Given the description of an element on the screen output the (x, y) to click on. 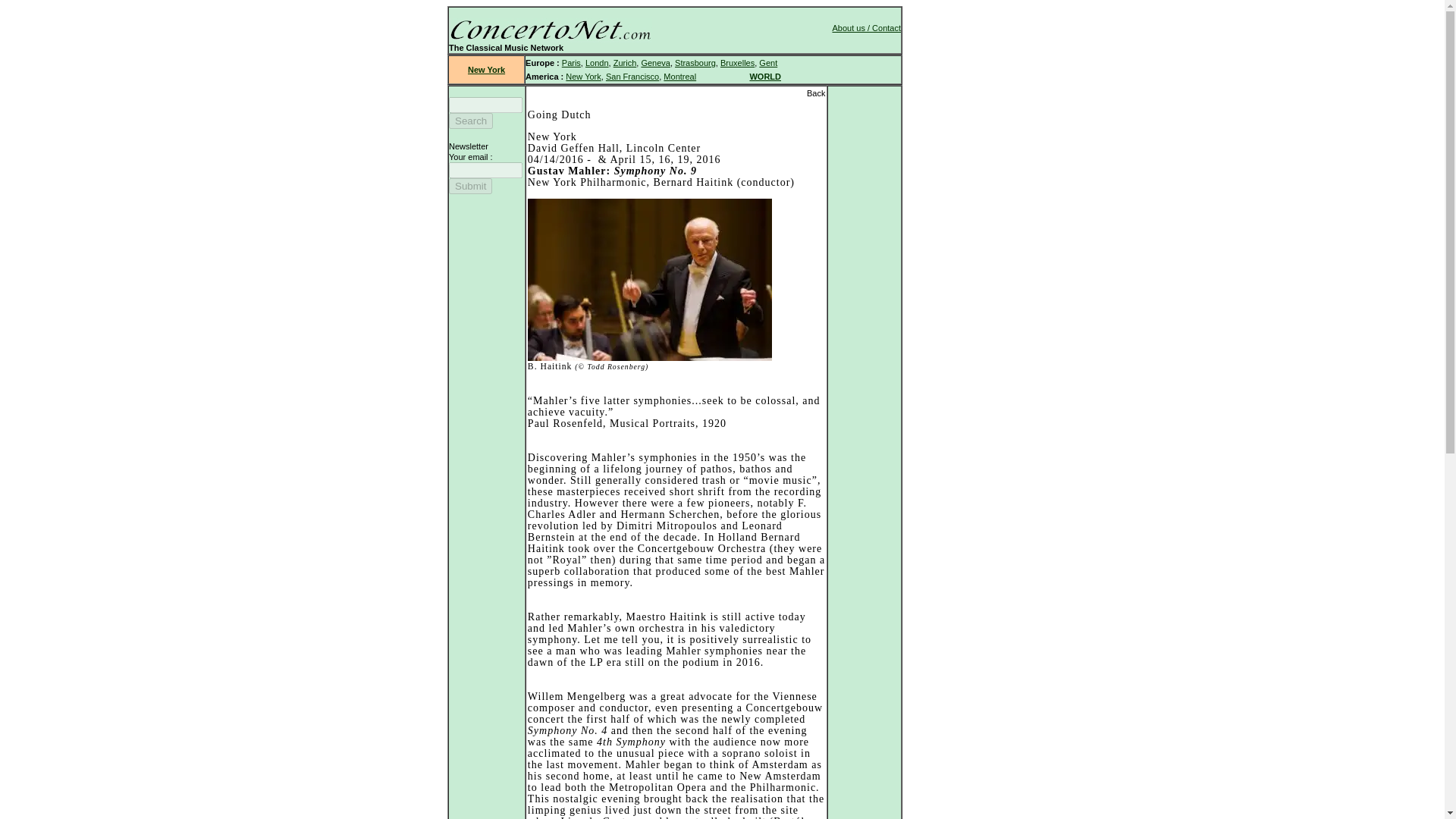
Submit (470, 186)
Zurich (624, 62)
San Francisco (632, 76)
Montreal (679, 76)
Gent (767, 62)
Strasbourg (695, 62)
Submit (470, 186)
Search (470, 120)
New York (582, 76)
Back (815, 92)
Londn (596, 62)
New York (486, 69)
Paris (571, 62)
Geneva (654, 62)
Search (470, 120)
